Given the description of an element on the screen output the (x, y) to click on. 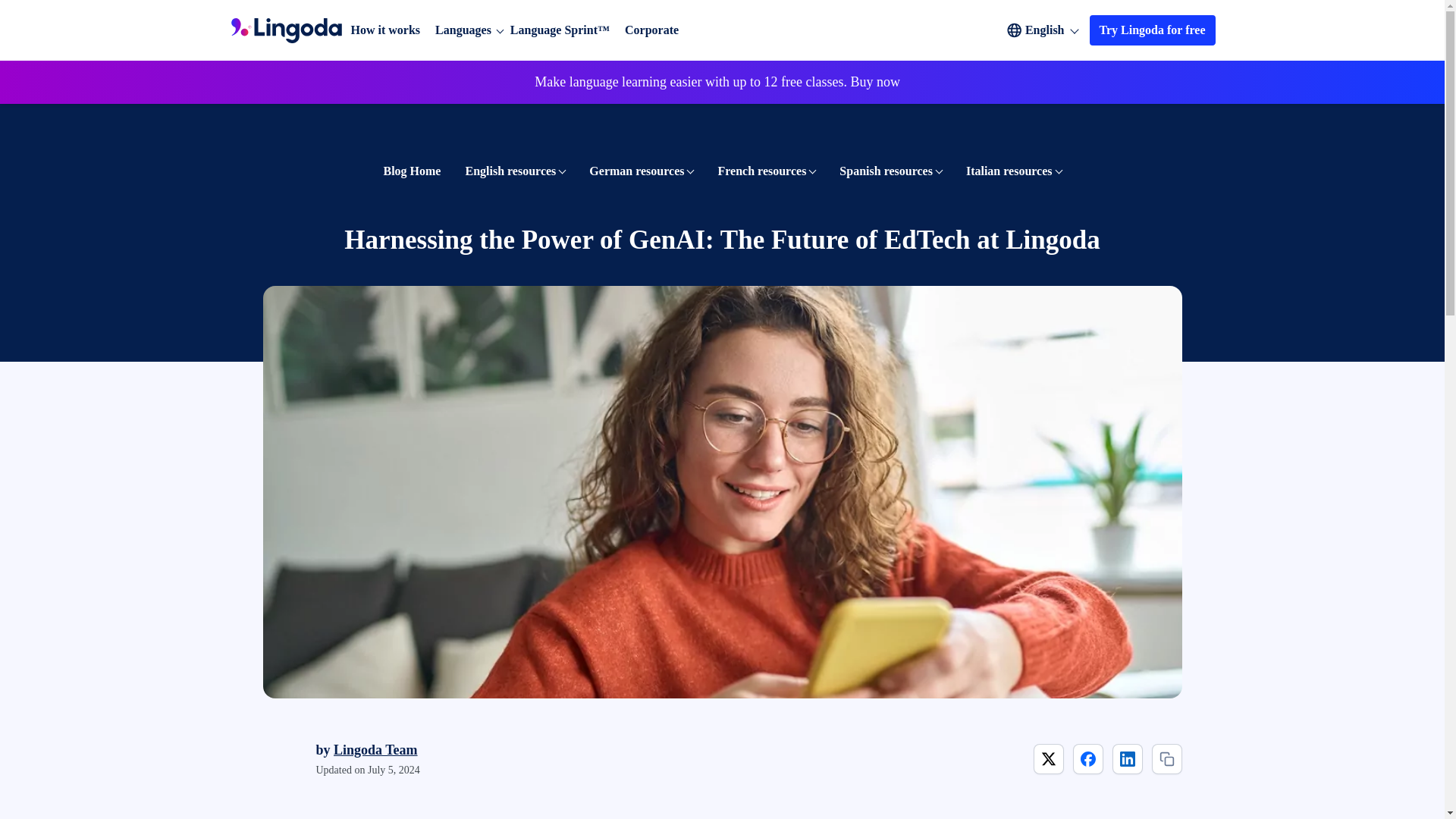
Languages (463, 29)
Try Lingoda for free (1152, 30)
How it works (385, 29)
Corporate (651, 29)
